Given the description of an element on the screen output the (x, y) to click on. 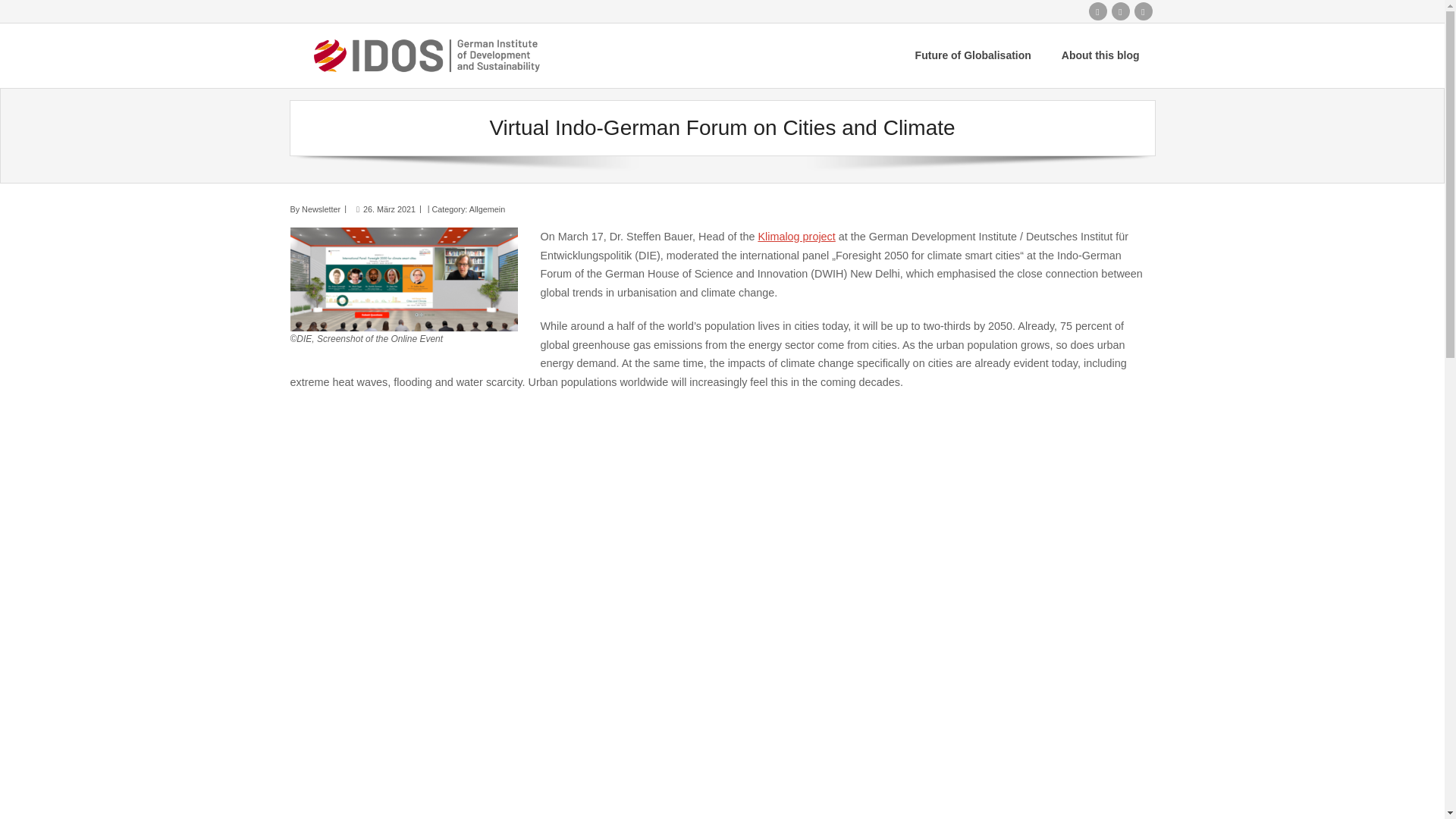
About this blog (1100, 54)
Virtual Indo-German Forum on Cities and Climate (397, 208)
Klimalog project (795, 236)
Newsletter (325, 208)
View all posts by Newsletter (325, 208)
Future of Globalisation (972, 54)
